Given the description of an element on the screen output the (x, y) to click on. 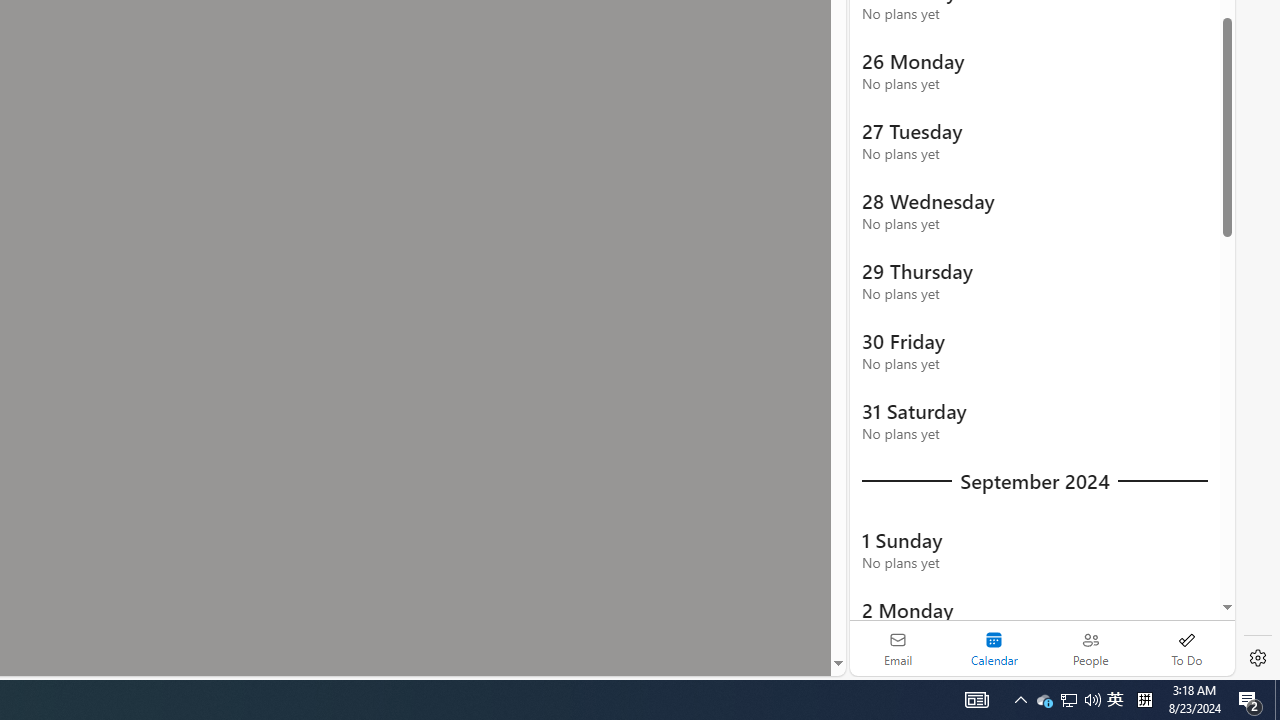
Selected calendar module. Date today is 22 (994, 648)
People (1090, 648)
To Do (1186, 648)
Email (898, 648)
